Given the description of an element on the screen output the (x, y) to click on. 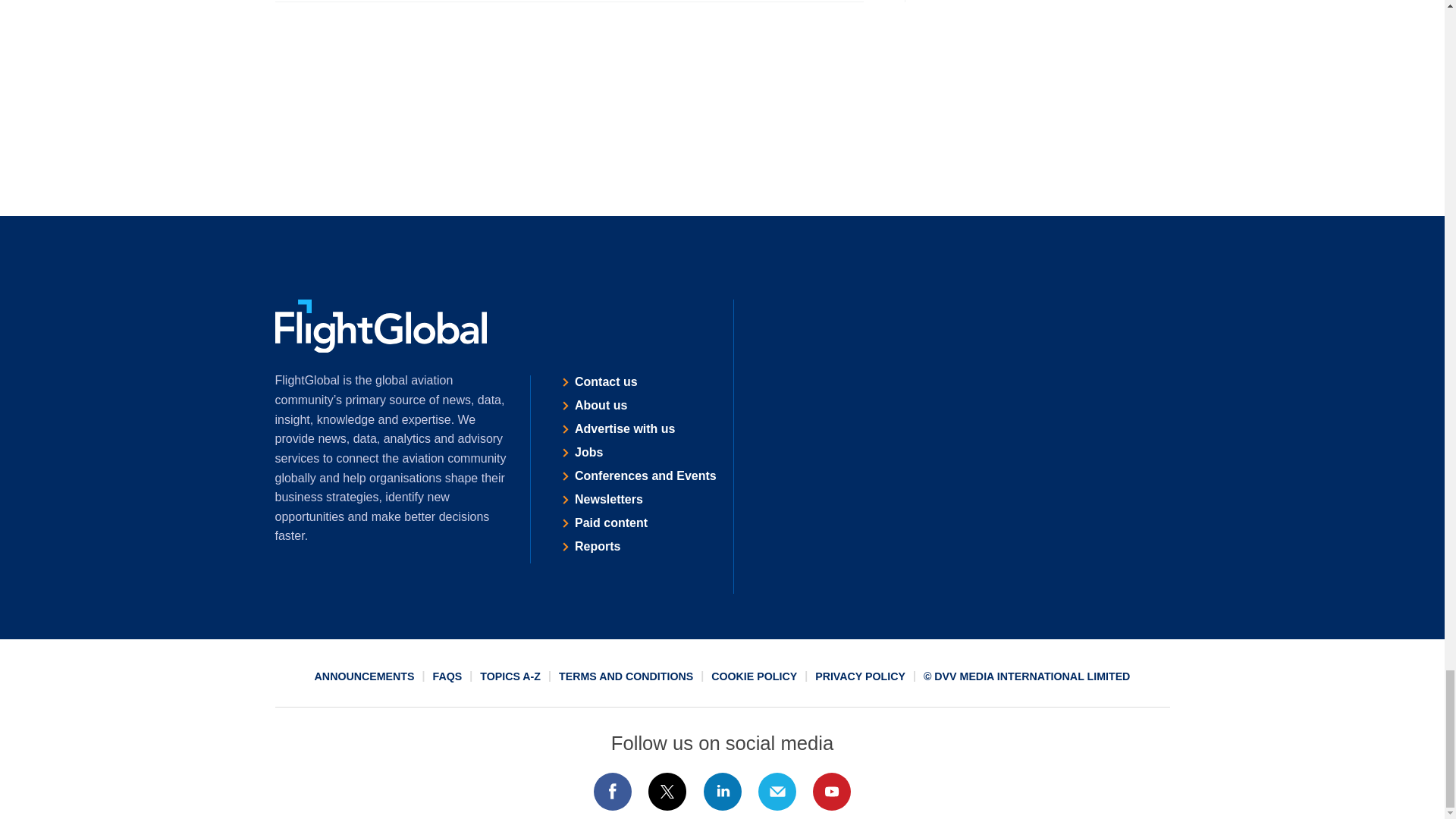
Connect with us on Linked In (721, 791)
Connect with us on Youtube (831, 791)
Connect with us on Twitter (667, 791)
Connect with us on Facebook (611, 791)
Email us (776, 791)
